Given the description of an element on the screen output the (x, y) to click on. 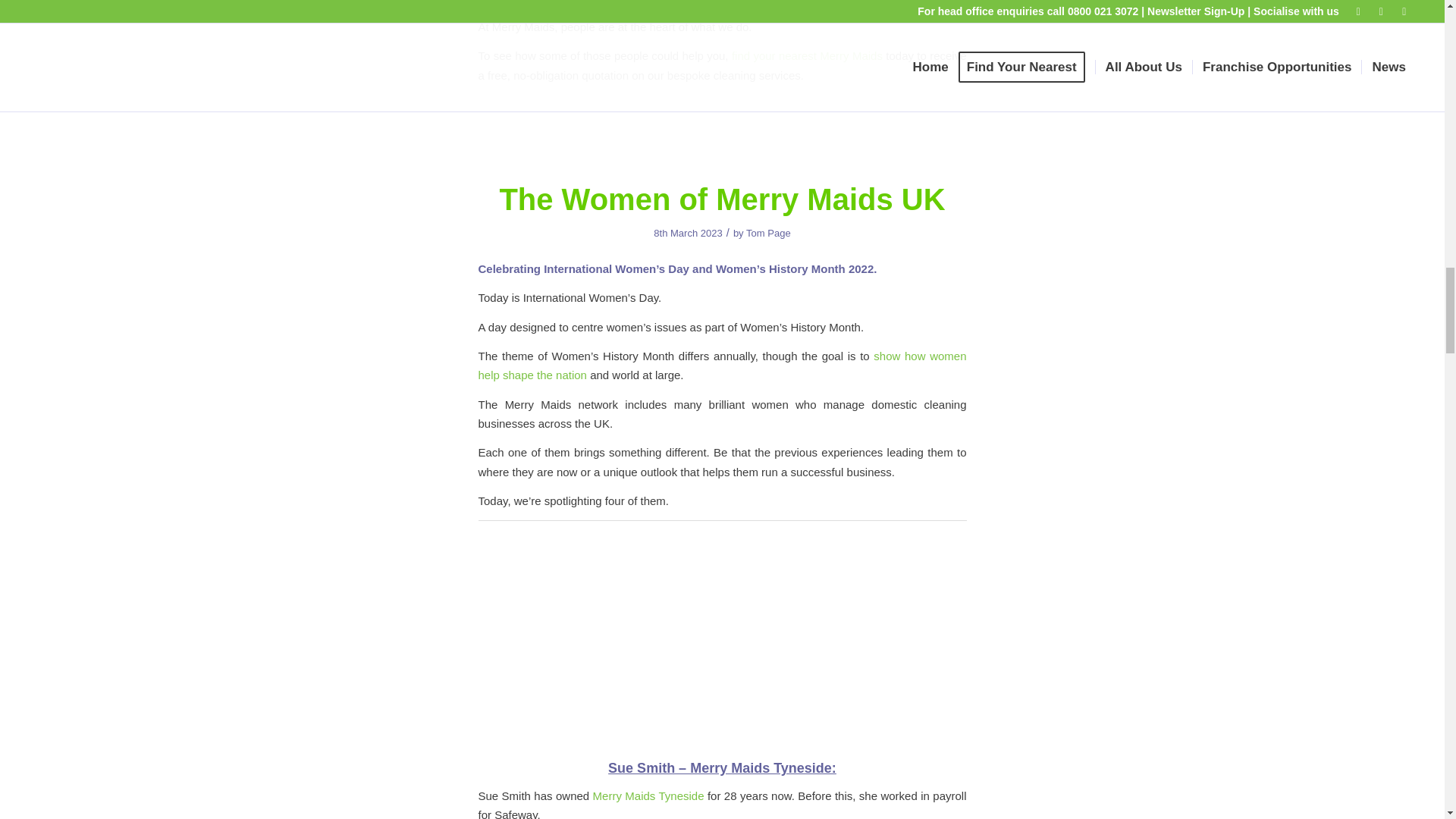
Permanent Link: The Women of Merry Maids UK (721, 199)
Posts by Tom Page (767, 233)
